Given the description of an element on the screen output the (x, y) to click on. 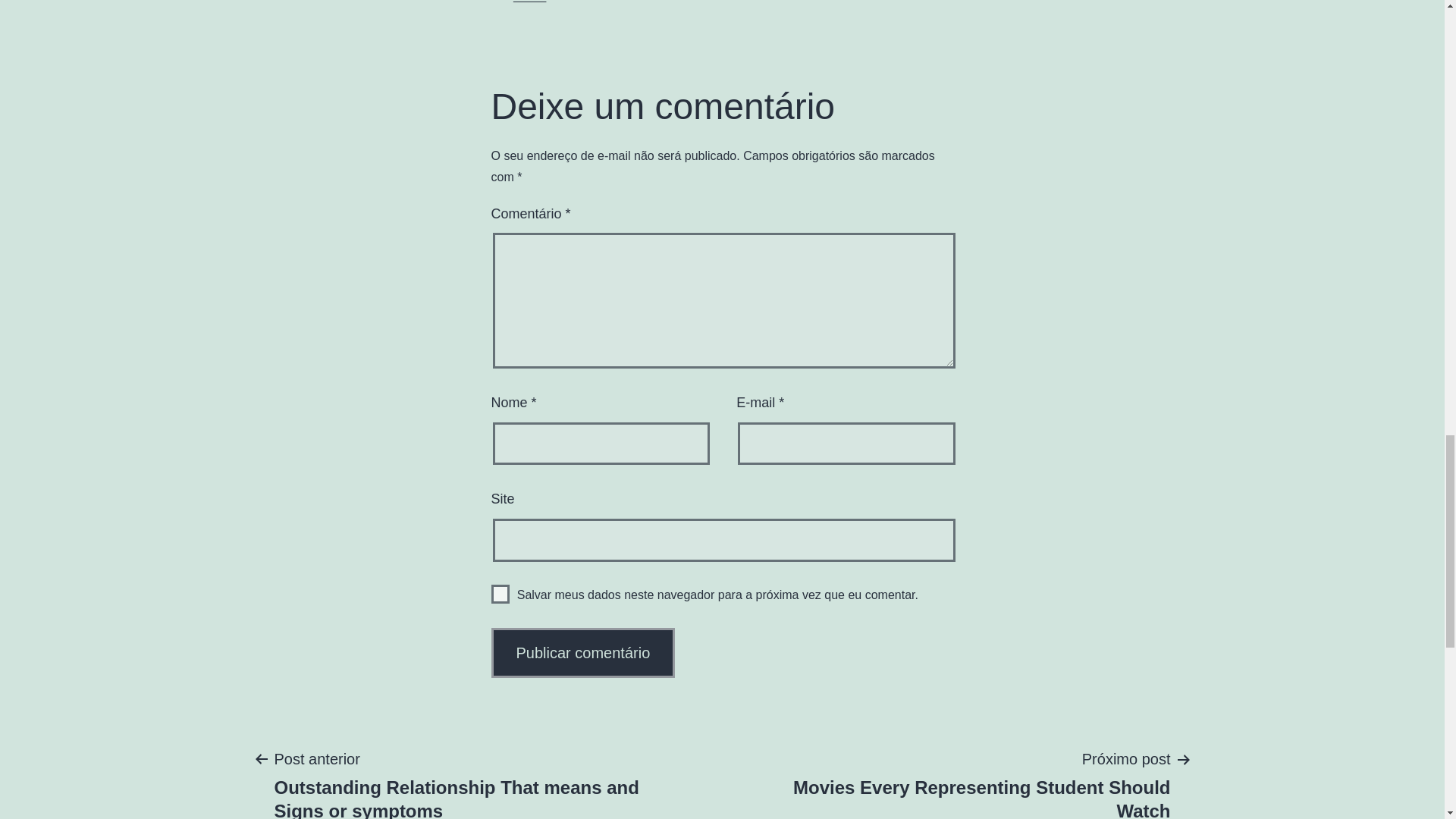
admin (530, 0)
yes (500, 593)
